Given the description of an element on the screen output the (x, y) to click on. 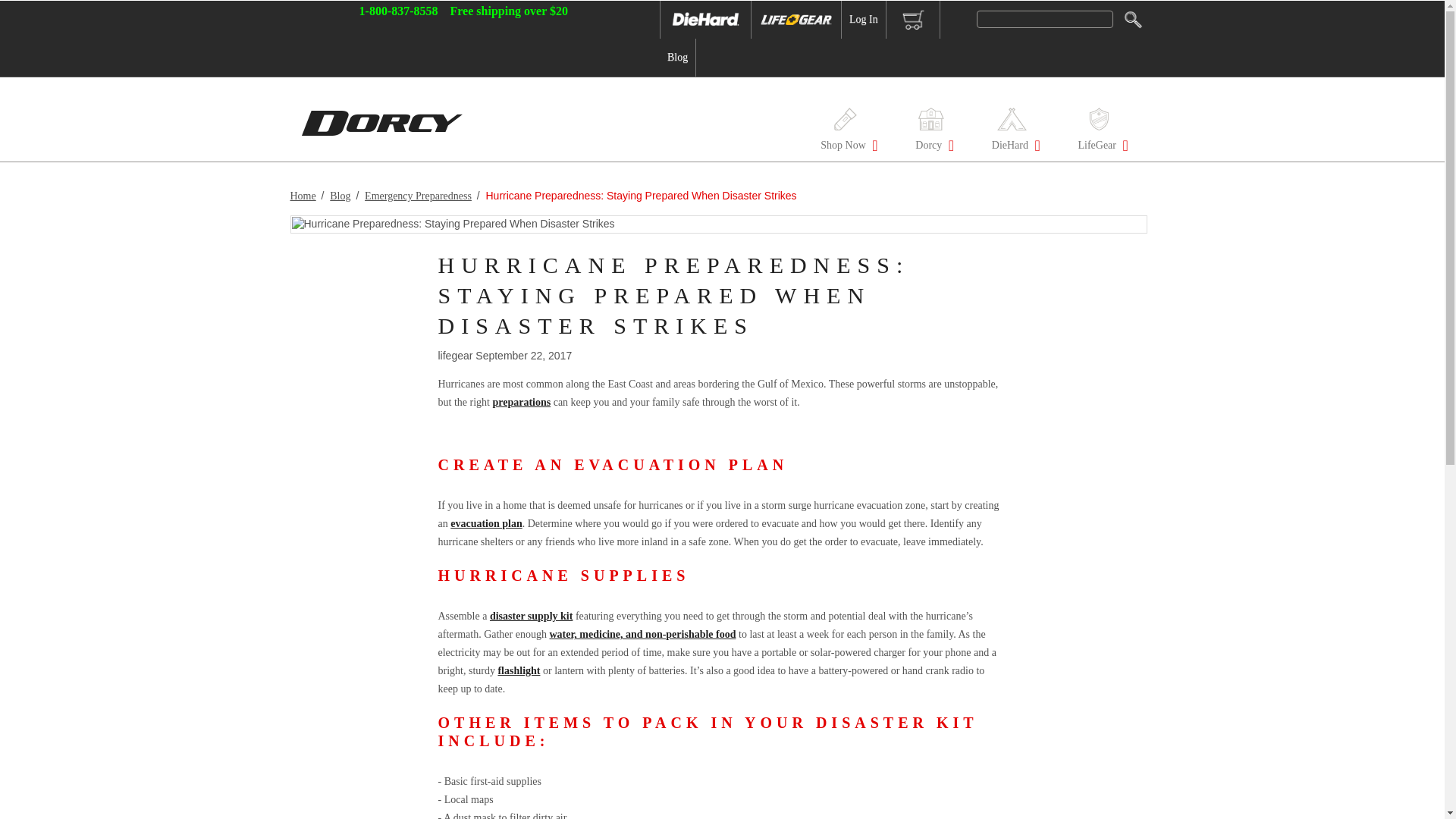
My Cart (913, 19)
Blog (677, 57)
My Cart (913, 19)
Dorcy (930, 134)
Log In (863, 19)
Life Gear (796, 19)
Die Hard (705, 19)
Shop Now (844, 134)
Die Hard (705, 19)
Go (1127, 19)
Log In (863, 19)
DieHard (1012, 134)
GO (1127, 19)
Life Gear (796, 19)
Blog (677, 57)
